Given the description of an element on the screen output the (x, y) to click on. 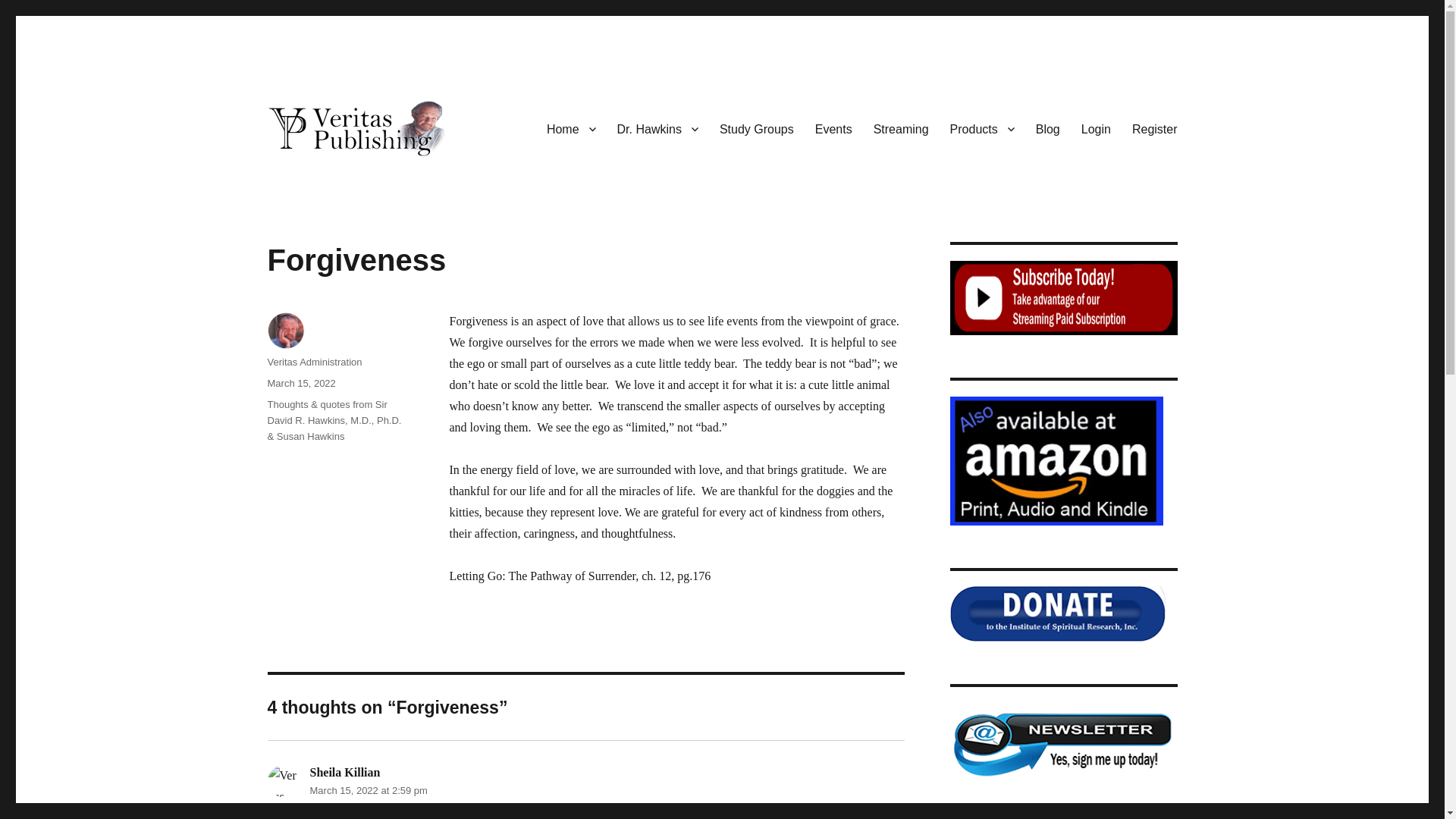
March 15, 2022 at 2:59 pm (367, 790)
Login (1095, 128)
Veritas Administration (313, 361)
Events (834, 128)
Blog (1047, 128)
Home (571, 128)
March 15, 2022 (300, 383)
Study Groups (757, 128)
David R. Hawkins (355, 180)
Register (1154, 128)
Products (982, 128)
Veritas Administration (282, 780)
Streaming (901, 128)
Dr. Hawkins (658, 128)
